Given the description of an element on the screen output the (x, y) to click on. 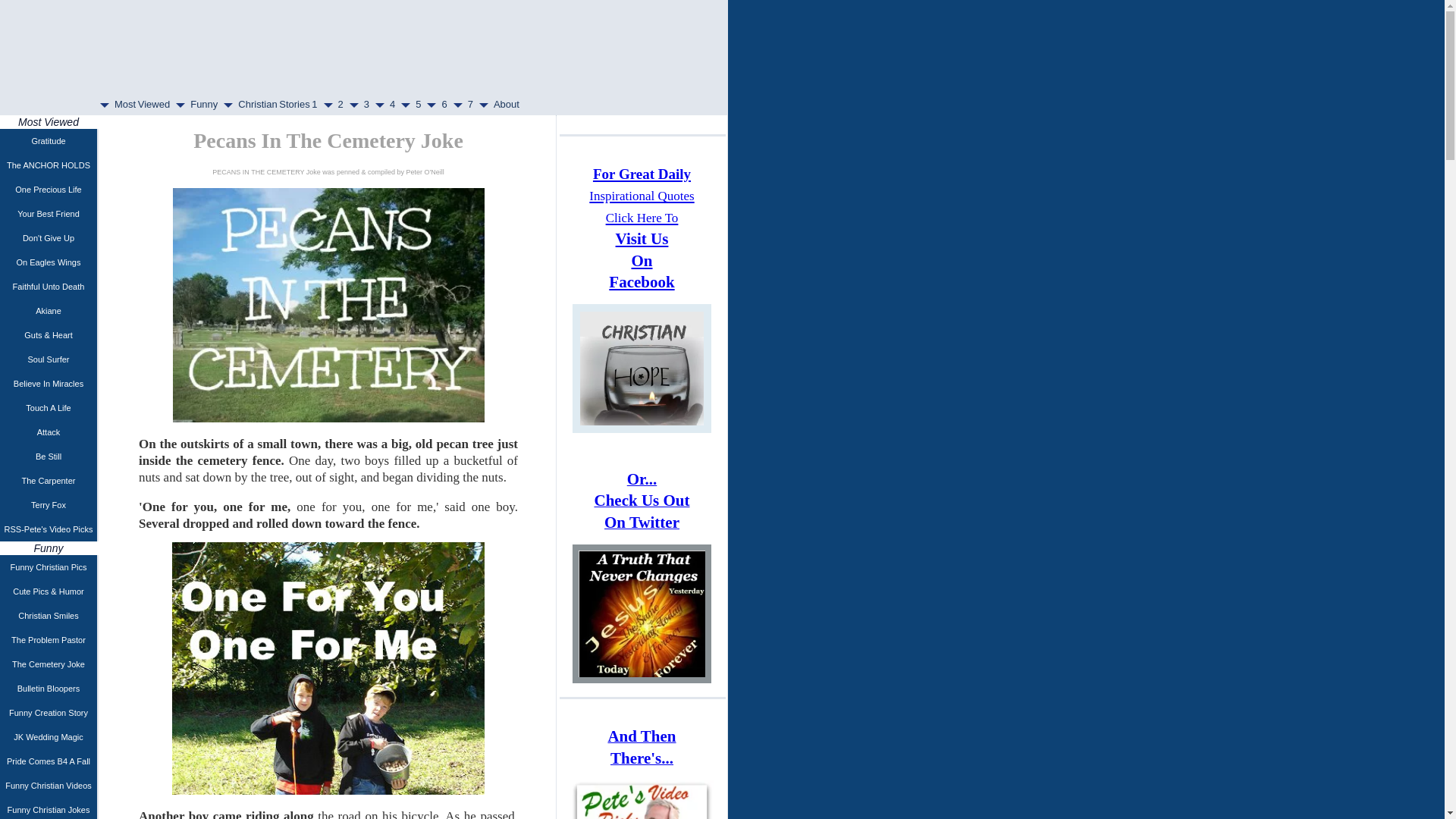
And Then
There's... Element type: text (641, 748)
Or...
Check Us Out
On Twitter Element type: text (641, 513)
pecans in the cemetery, funny christian story Element type: hover (328, 305)
one for you, one for me, funny christian story Element type: hover (328, 668)
